Given the description of an element on the screen output the (x, y) to click on. 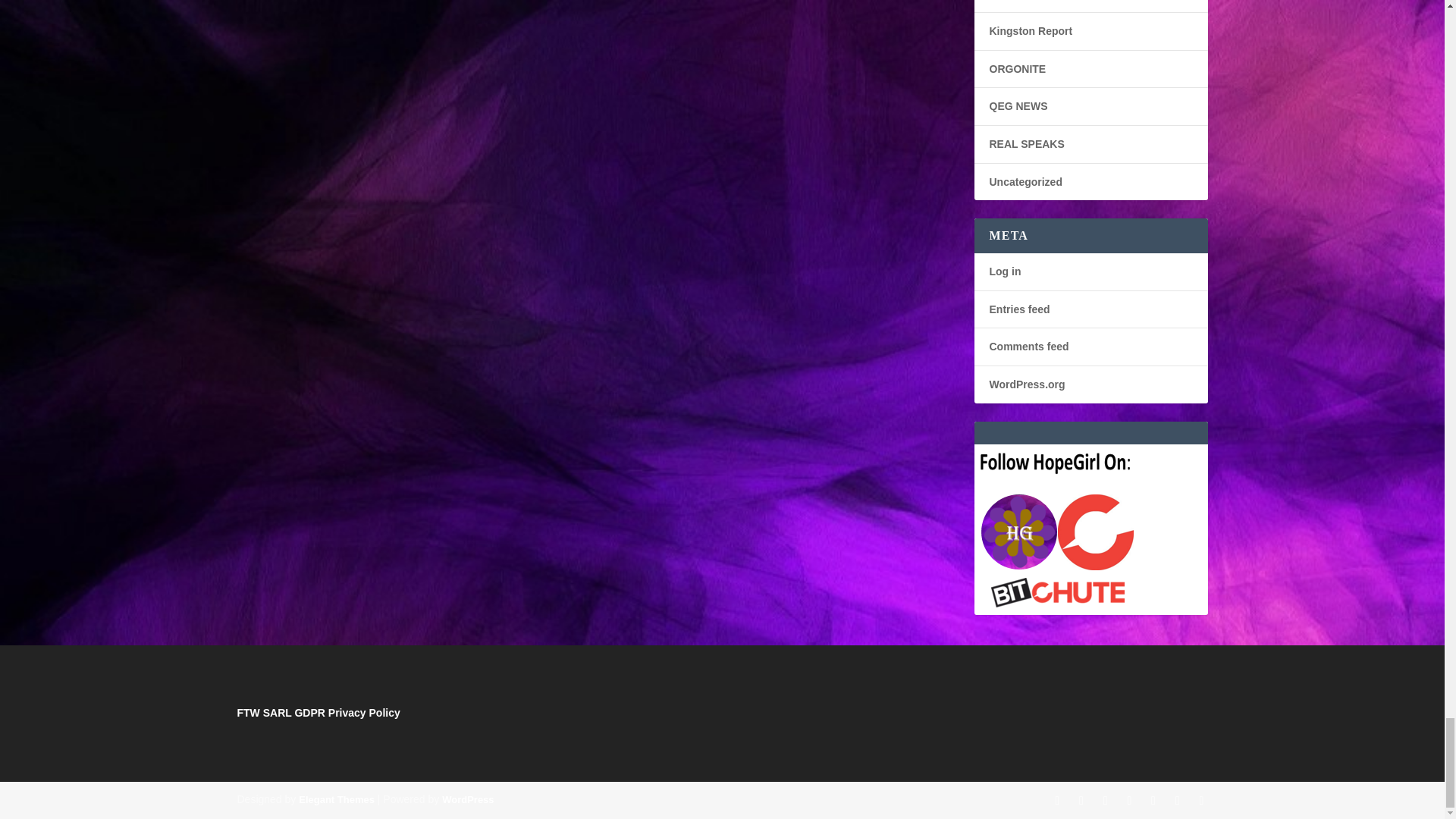
Latest updates on our QEG technology projects (1017, 105)
